Given the description of an element on the screen output the (x, y) to click on. 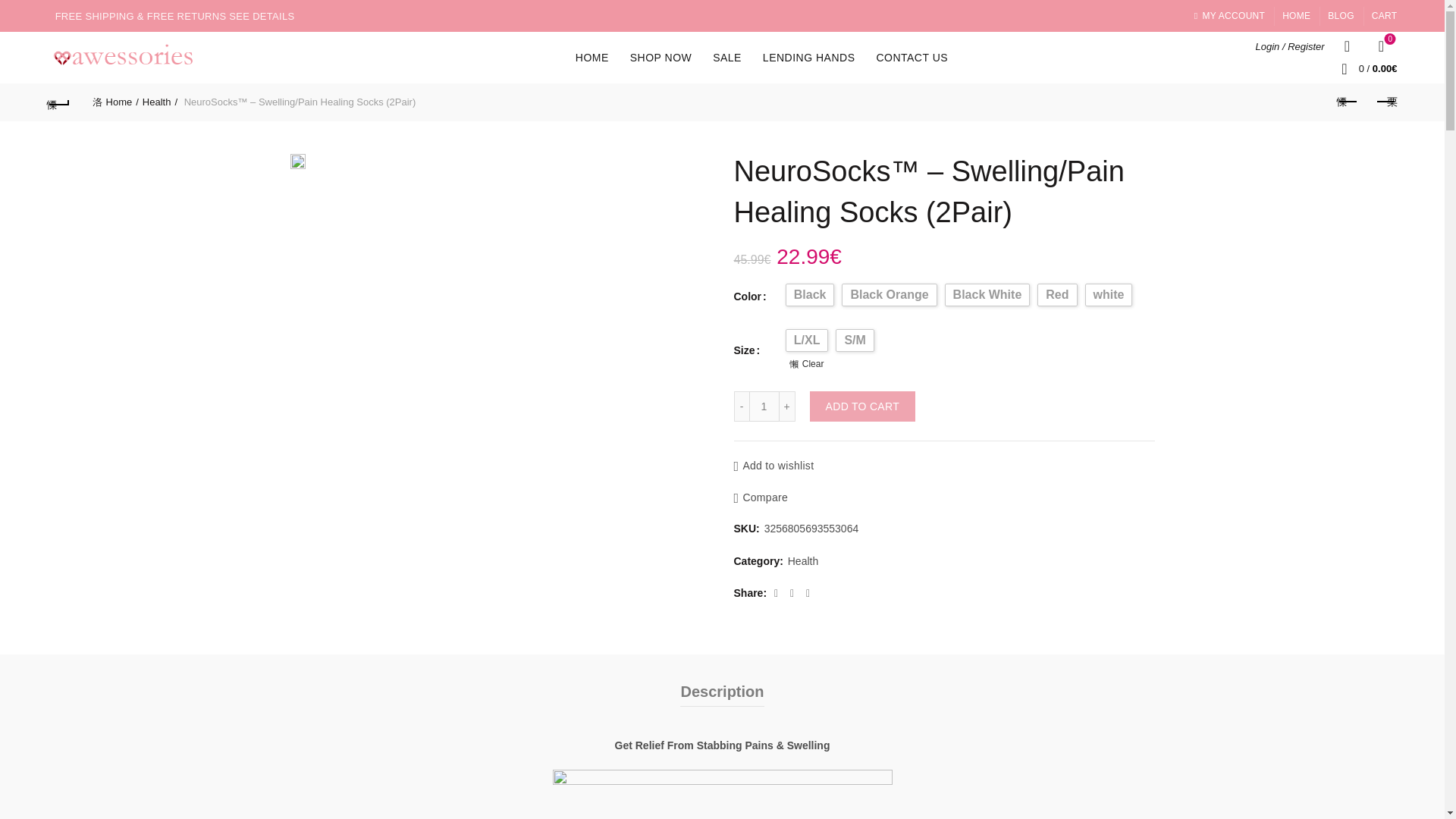
NeuroSocks Swelling Pain Healing Socks 7 (296, 160)
Next product (1386, 101)
Health (159, 101)
1 (763, 406)
Home (115, 101)
CONTACT US (912, 57)
SALE (727, 57)
HOME (1296, 15)
HOME (592, 57)
SHOP NOW (660, 57)
